Given the description of an element on the screen output the (x, y) to click on. 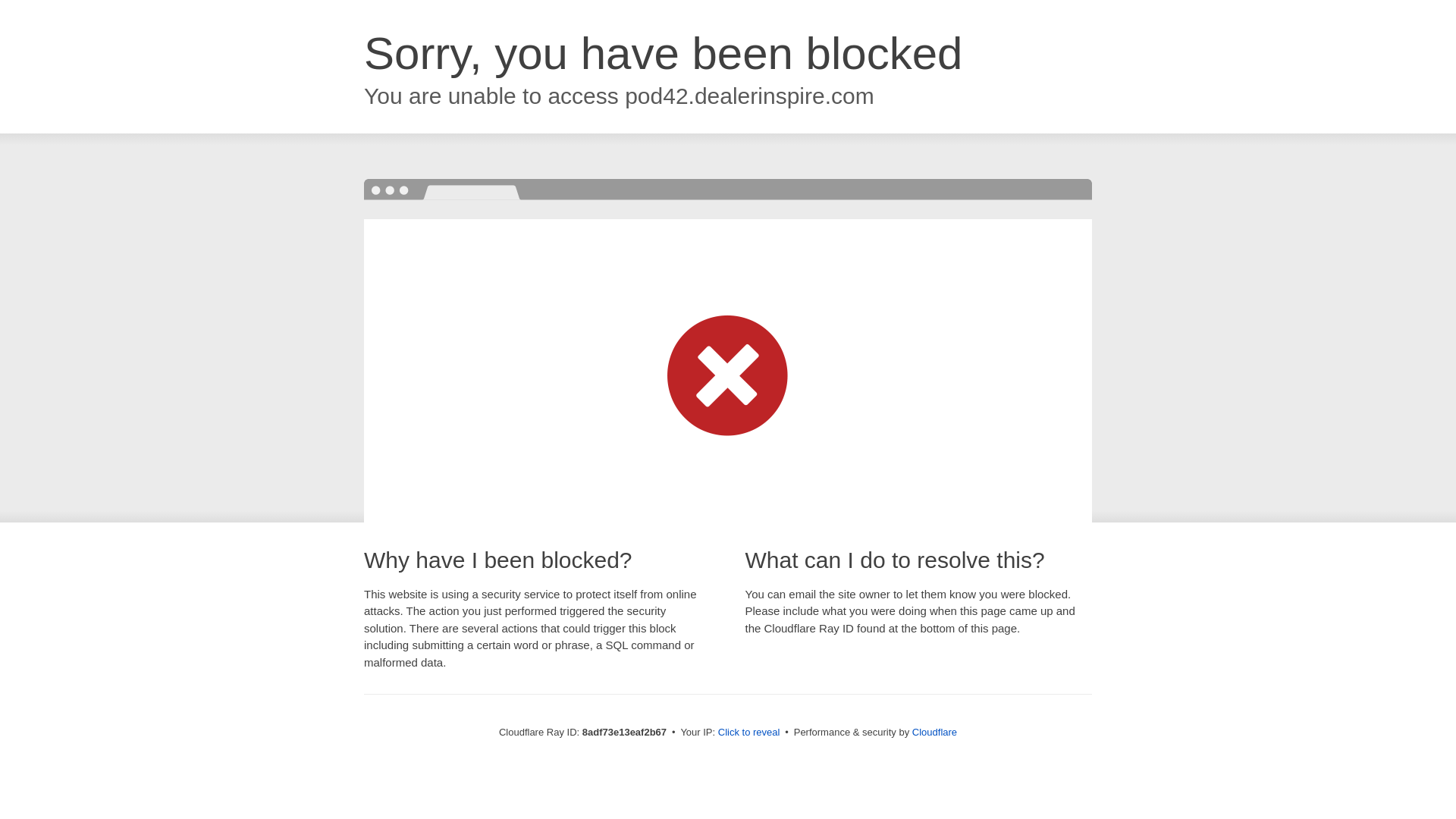
Click to reveal (748, 732)
Cloudflare (934, 731)
